Given the description of an element on the screen output the (x, y) to click on. 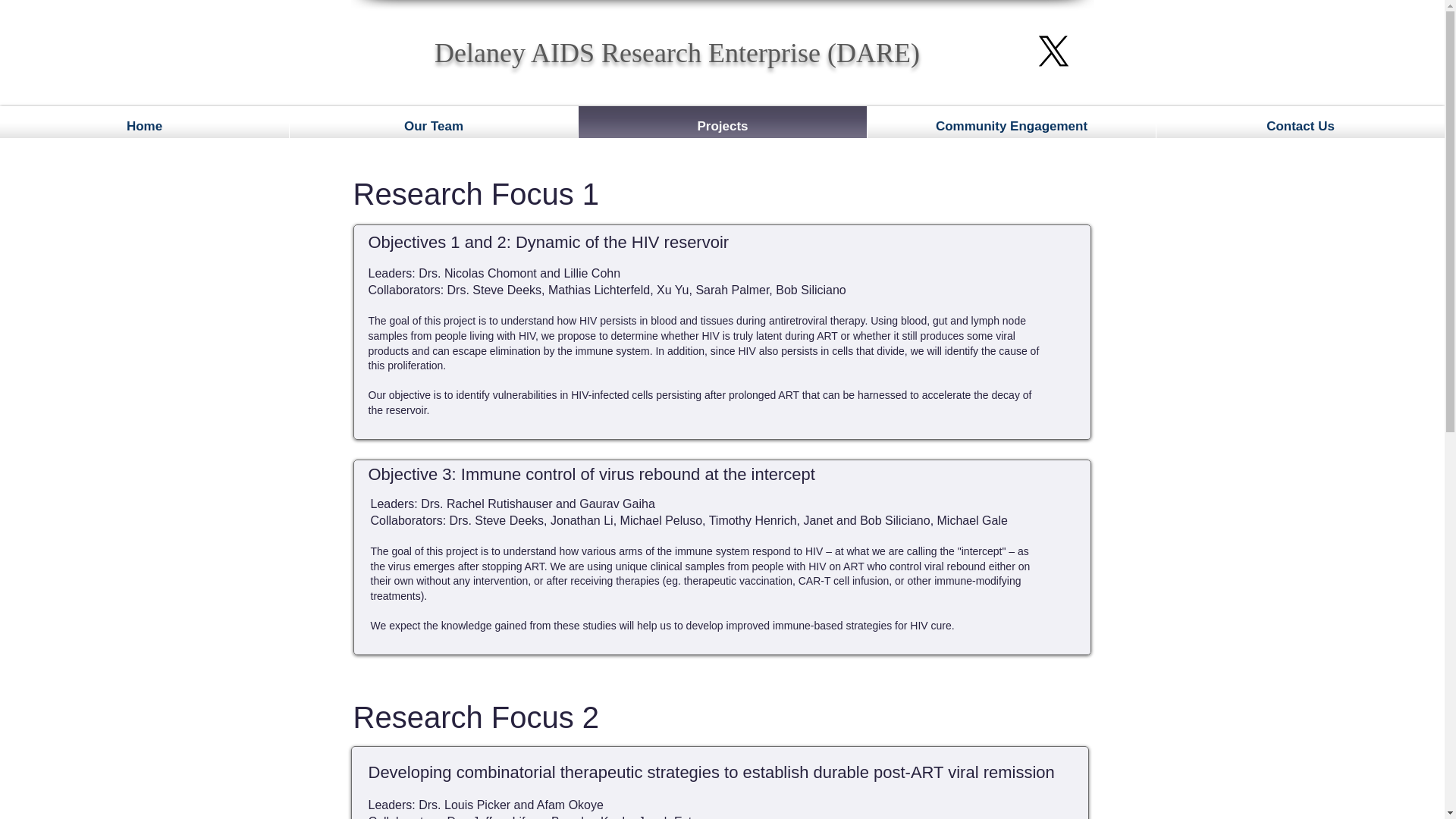
Our Team (433, 126)
Home (144, 126)
Projects (722, 126)
Community Engagement (1011, 126)
